Given the description of an element on the screen output the (x, y) to click on. 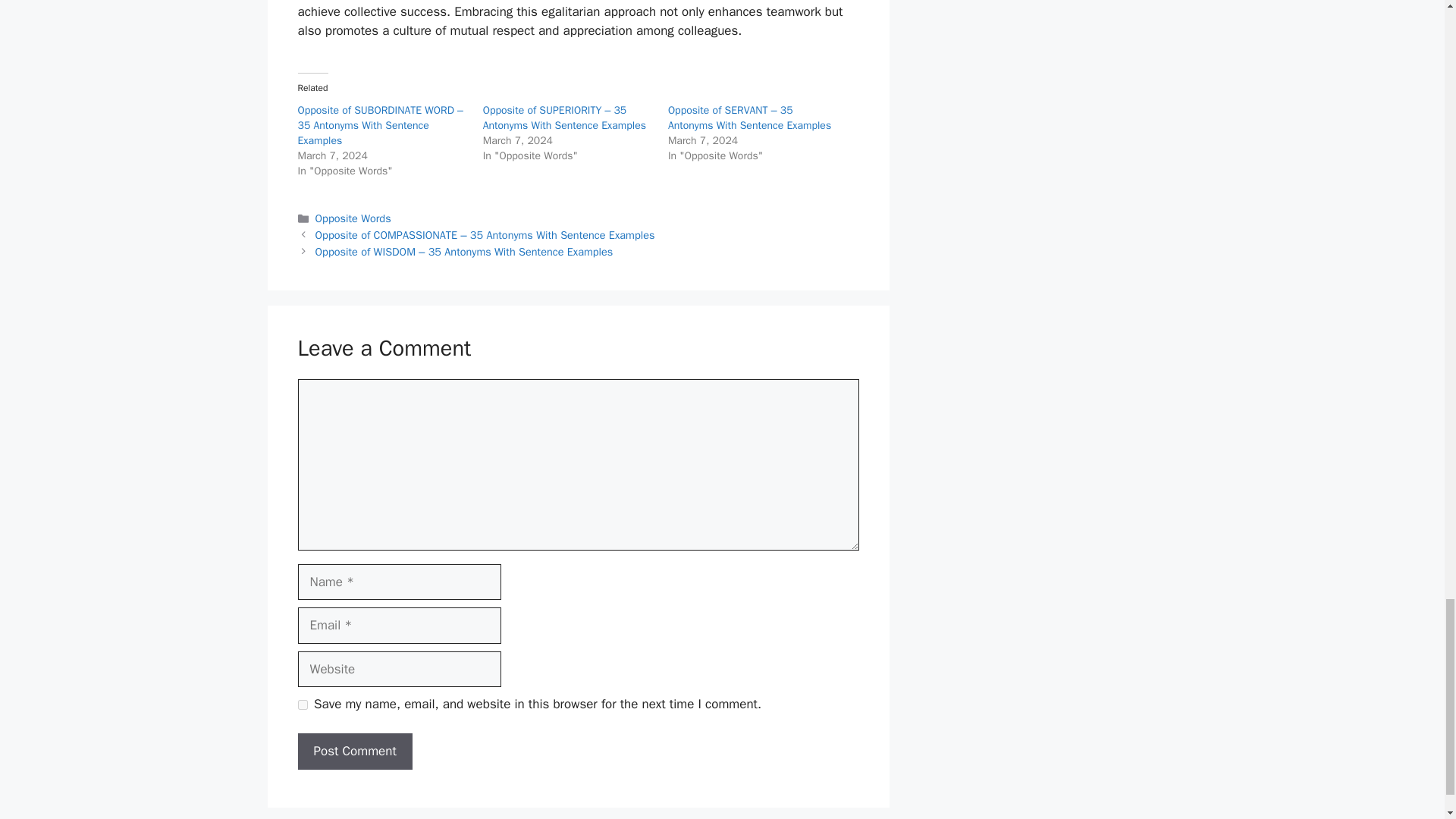
yes (302, 705)
Post Comment (354, 751)
Post Comment (354, 751)
Opposite Words (353, 218)
